Given the description of an element on the screen output the (x, y) to click on. 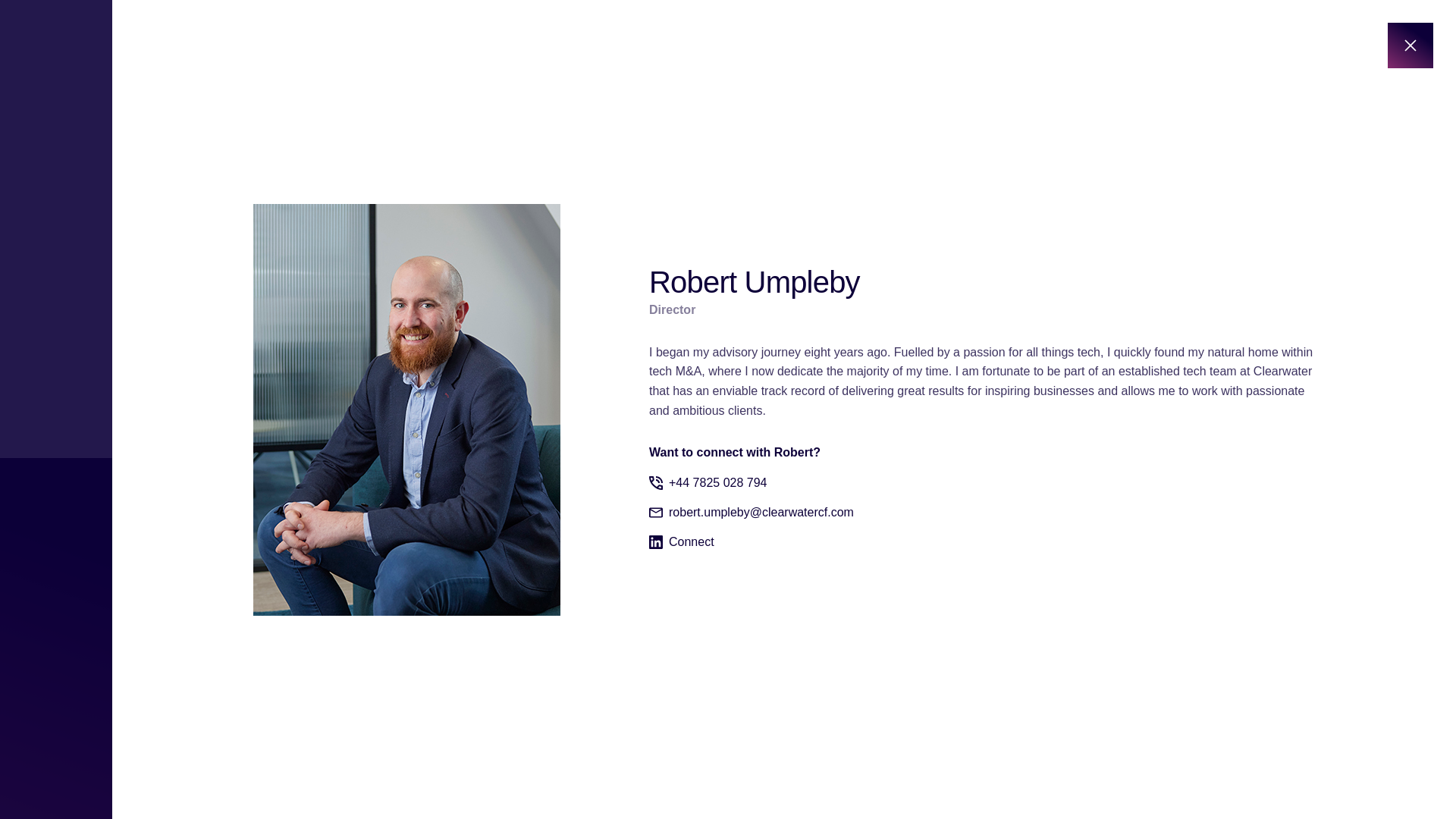
Clearwater (299, 778)
Close team member dialog (1409, 44)
